Given the description of an element on the screen output the (x, y) to click on. 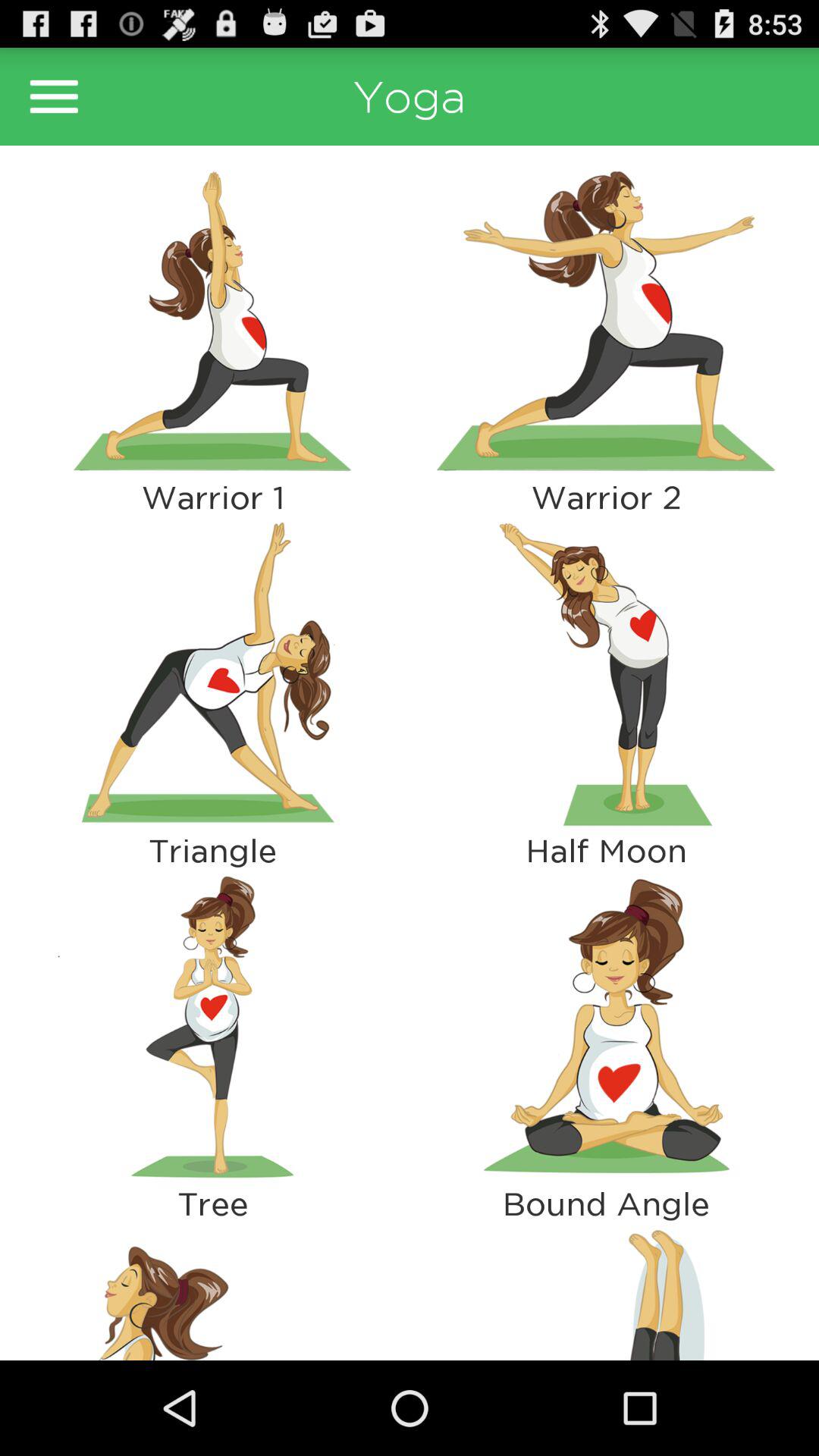
select app next to half moon app (212, 1026)
